Given the description of an element on the screen output the (x, y) to click on. 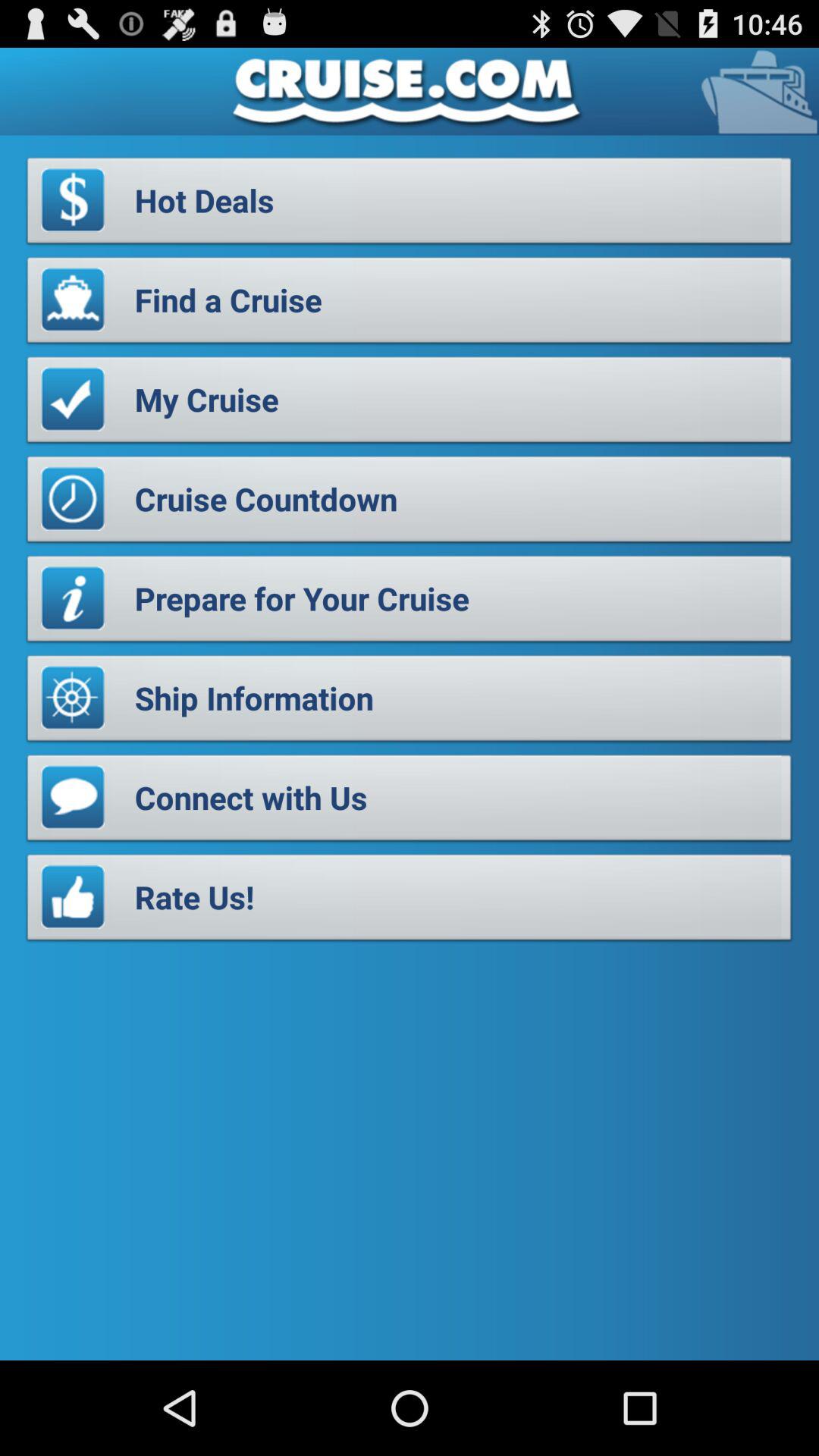
flip until rate us! button (409, 901)
